Given the description of an element on the screen output the (x, y) to click on. 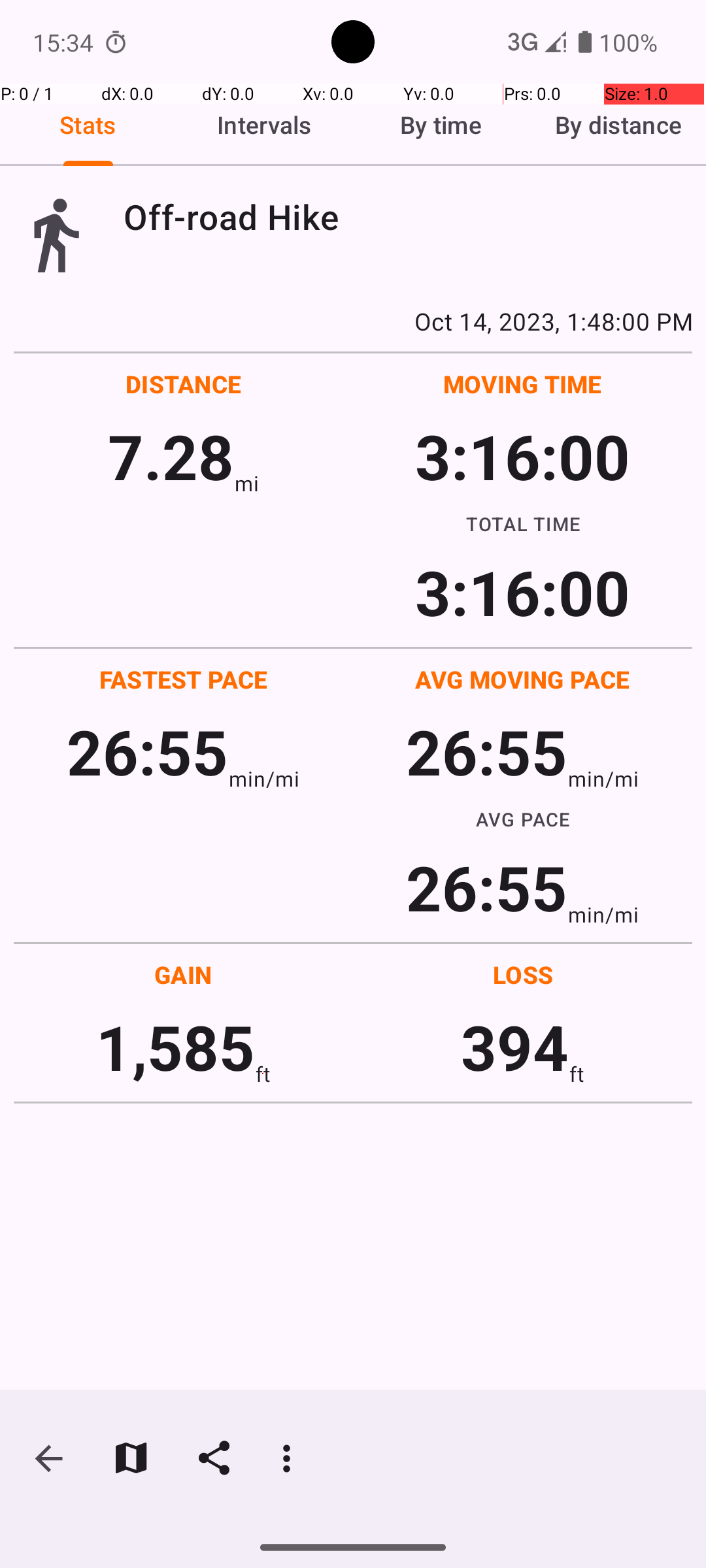
Off-road Hike Element type: android.widget.TextView (407, 216)
Oct 14, 2023, 1:48:00 PM Element type: android.widget.TextView (352, 320)
7.28 Element type: android.widget.TextView (170, 455)
3:16:00 Element type: android.widget.TextView (522, 455)
FASTEST PACE Element type: android.widget.TextView (183, 678)
AVG MOVING PACE Element type: android.widget.TextView (522, 678)
26:55 Element type: android.widget.TextView (147, 750)
min/mi Element type: android.widget.TextView (264, 778)
AVG PACE Element type: android.widget.TextView (522, 818)
1,585 Element type: android.widget.TextView (175, 1045)
394 Element type: android.widget.TextView (514, 1045)
